Given the description of an element on the screen output the (x, y) to click on. 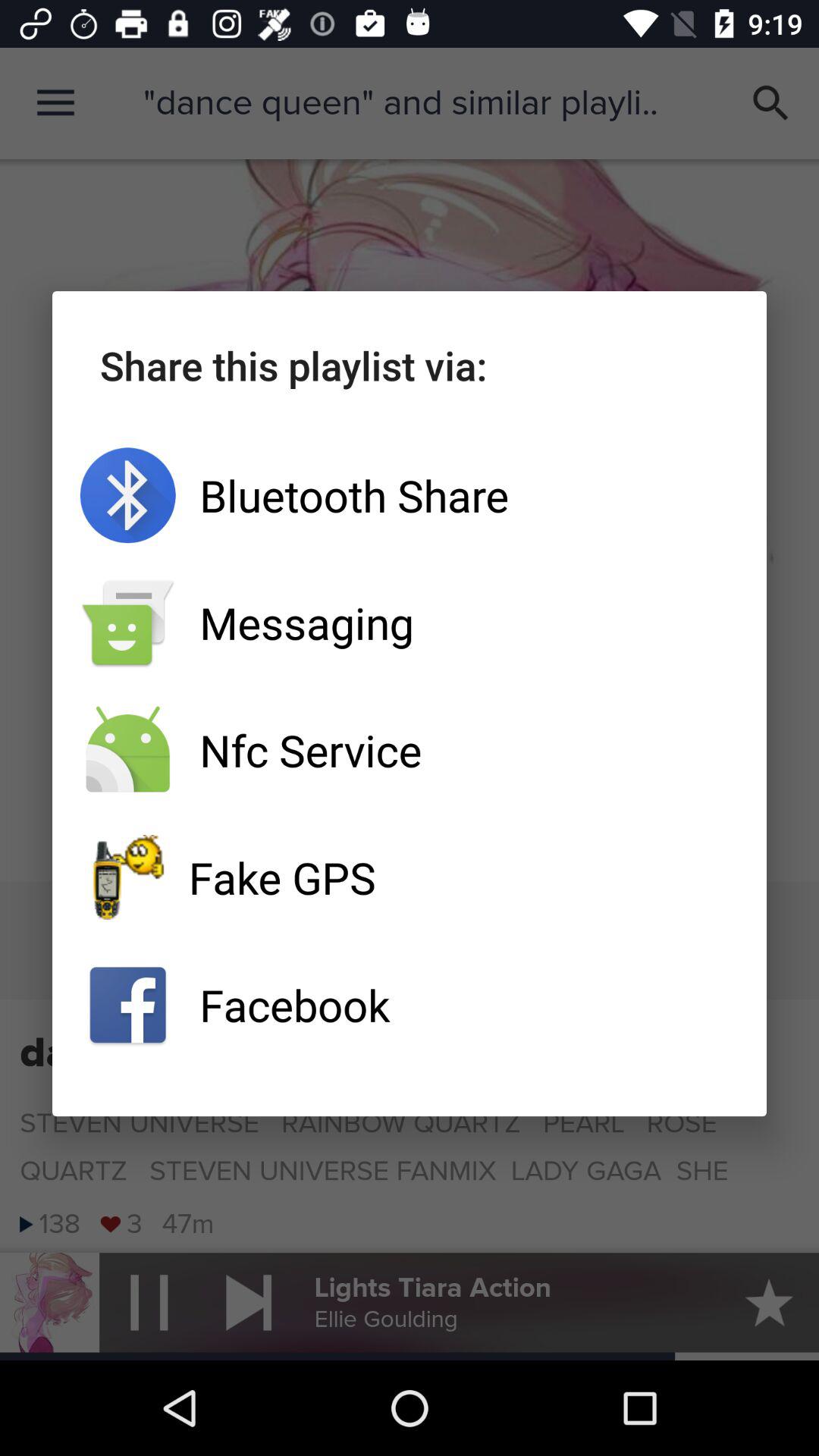
select fake gps item (409, 877)
